Given the description of an element on the screen output the (x, y) to click on. 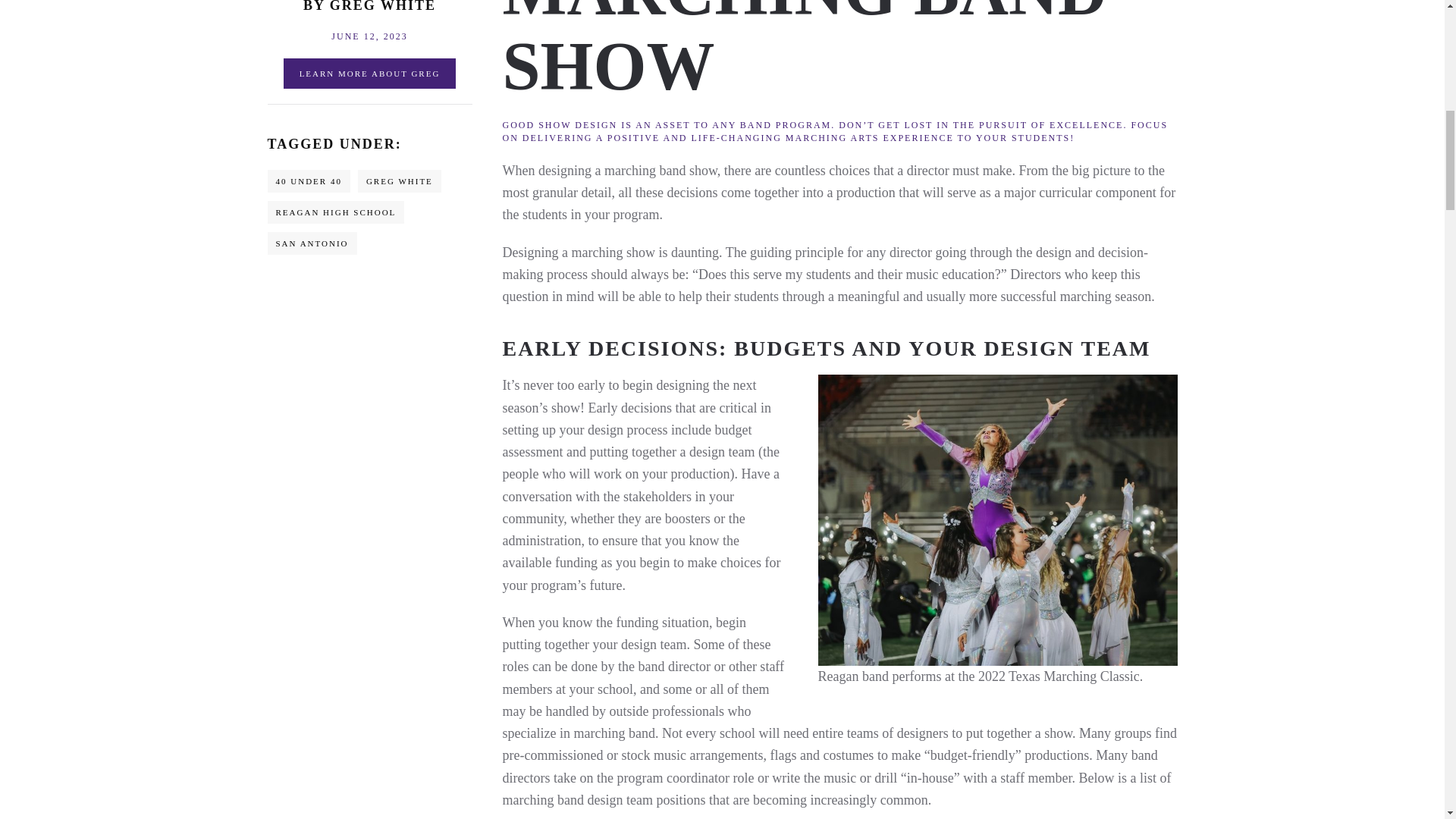
40 UNDER 40 (307, 180)
GREG WHITE (368, 44)
